Given the description of an element on the screen output the (x, y) to click on. 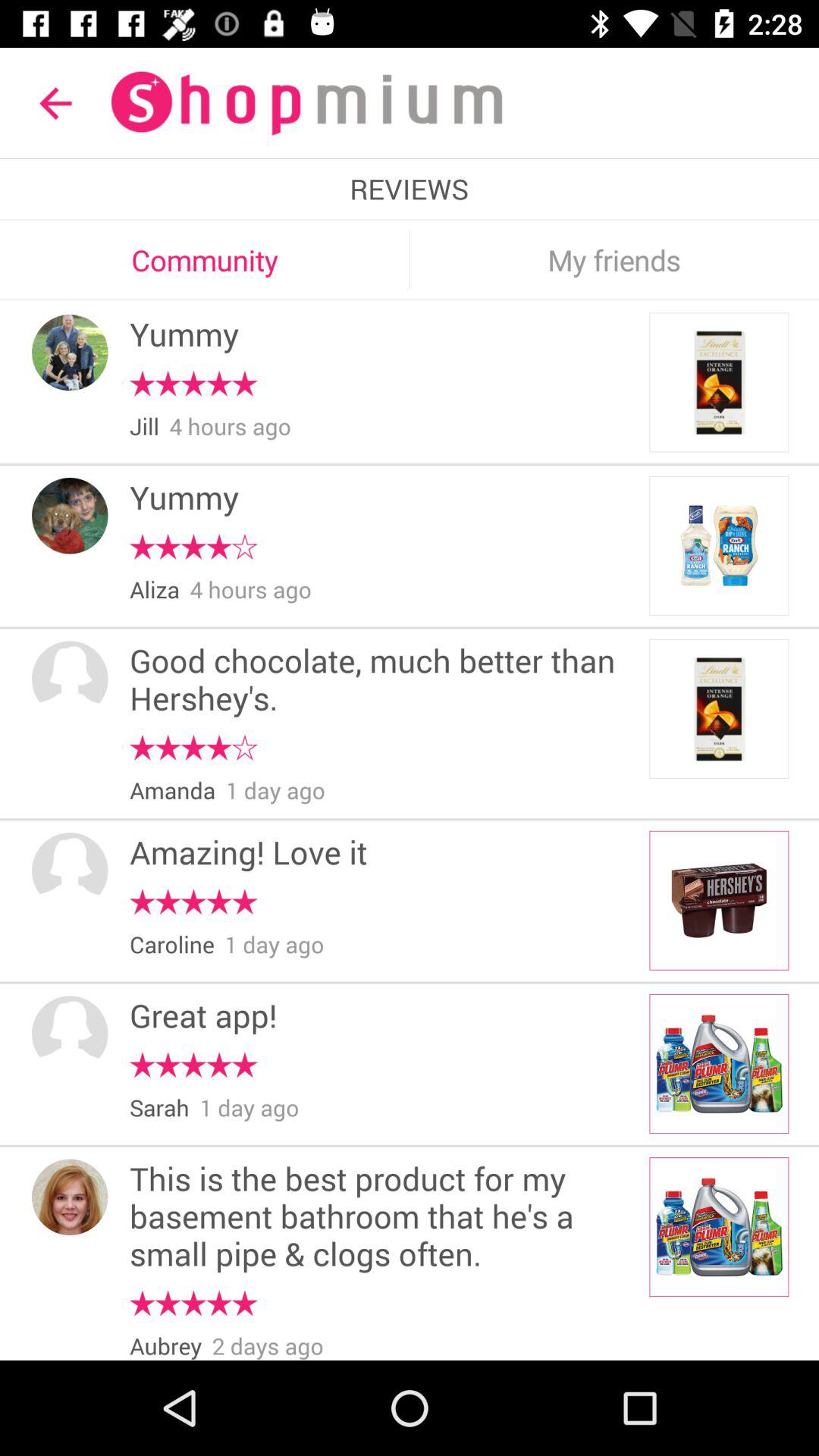
turn off item next to the my friends item (409, 259)
